Given the description of an element on the screen output the (x, y) to click on. 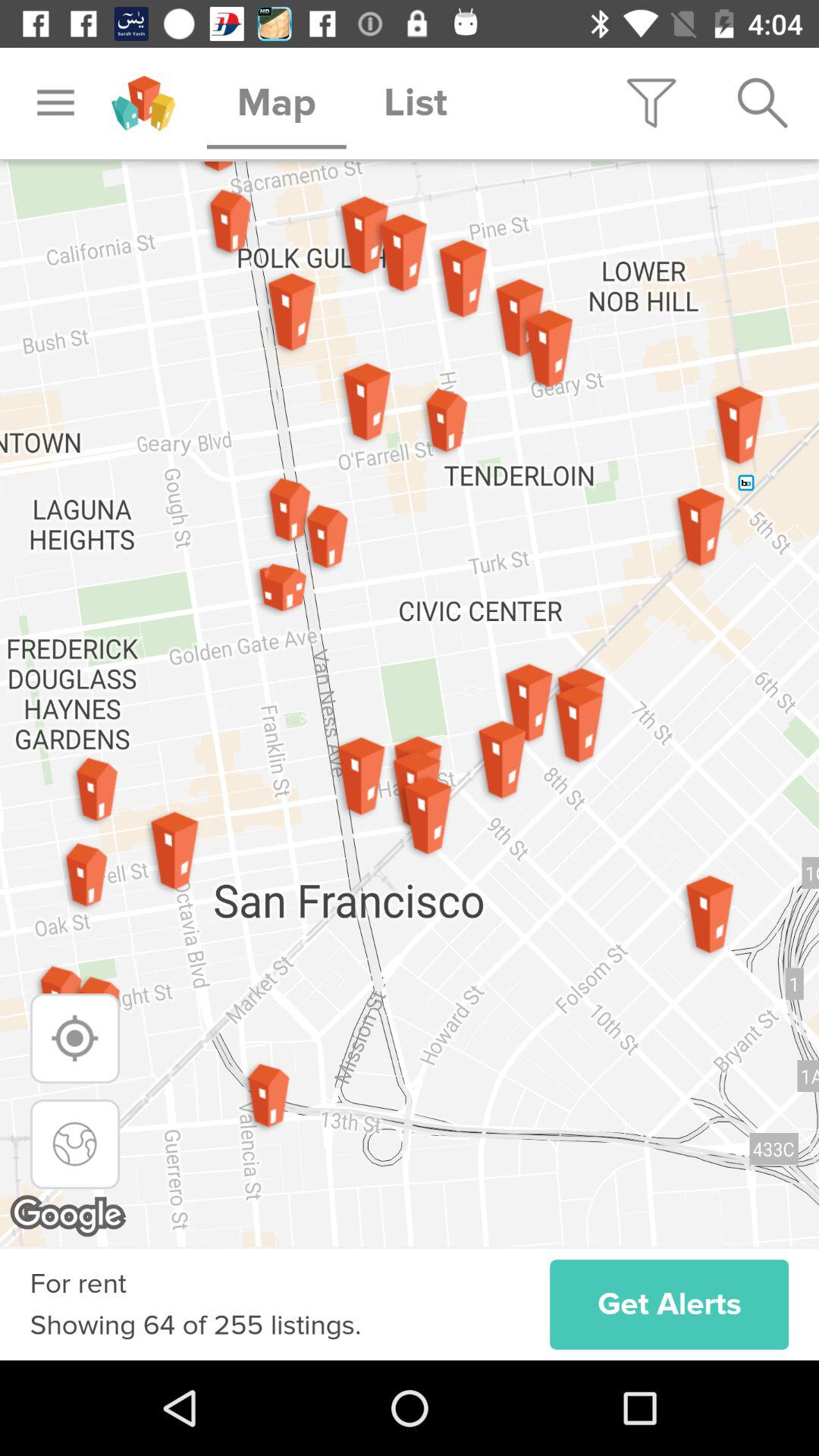
my location (75, 1038)
